Given the description of an element on the screen output the (x, y) to click on. 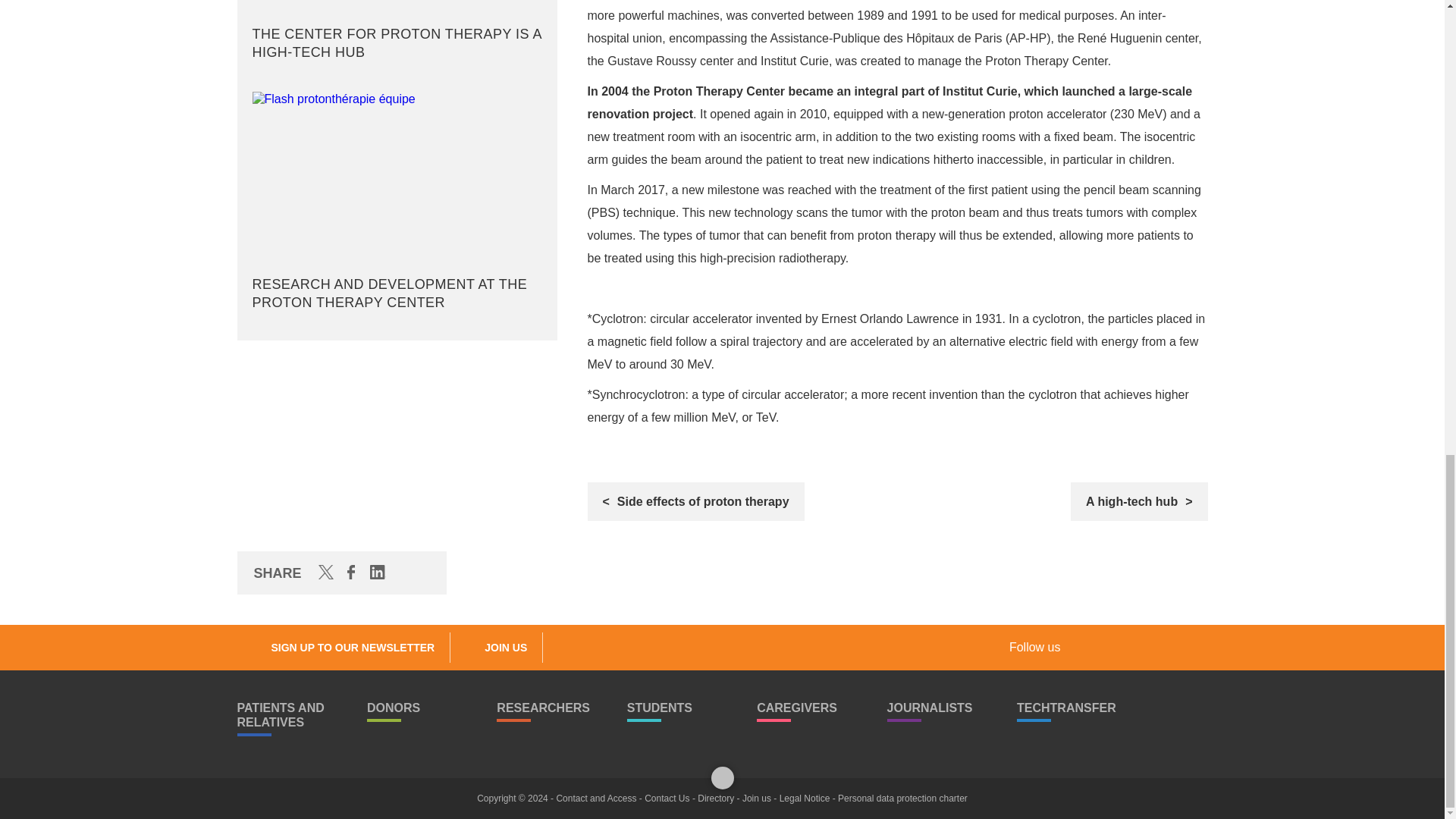
Research and development at the Proton Therapy Center (396, 205)
The Center for Proton Therapy is a high-tech hub (396, 34)
